Given the description of an element on the screen output the (x, y) to click on. 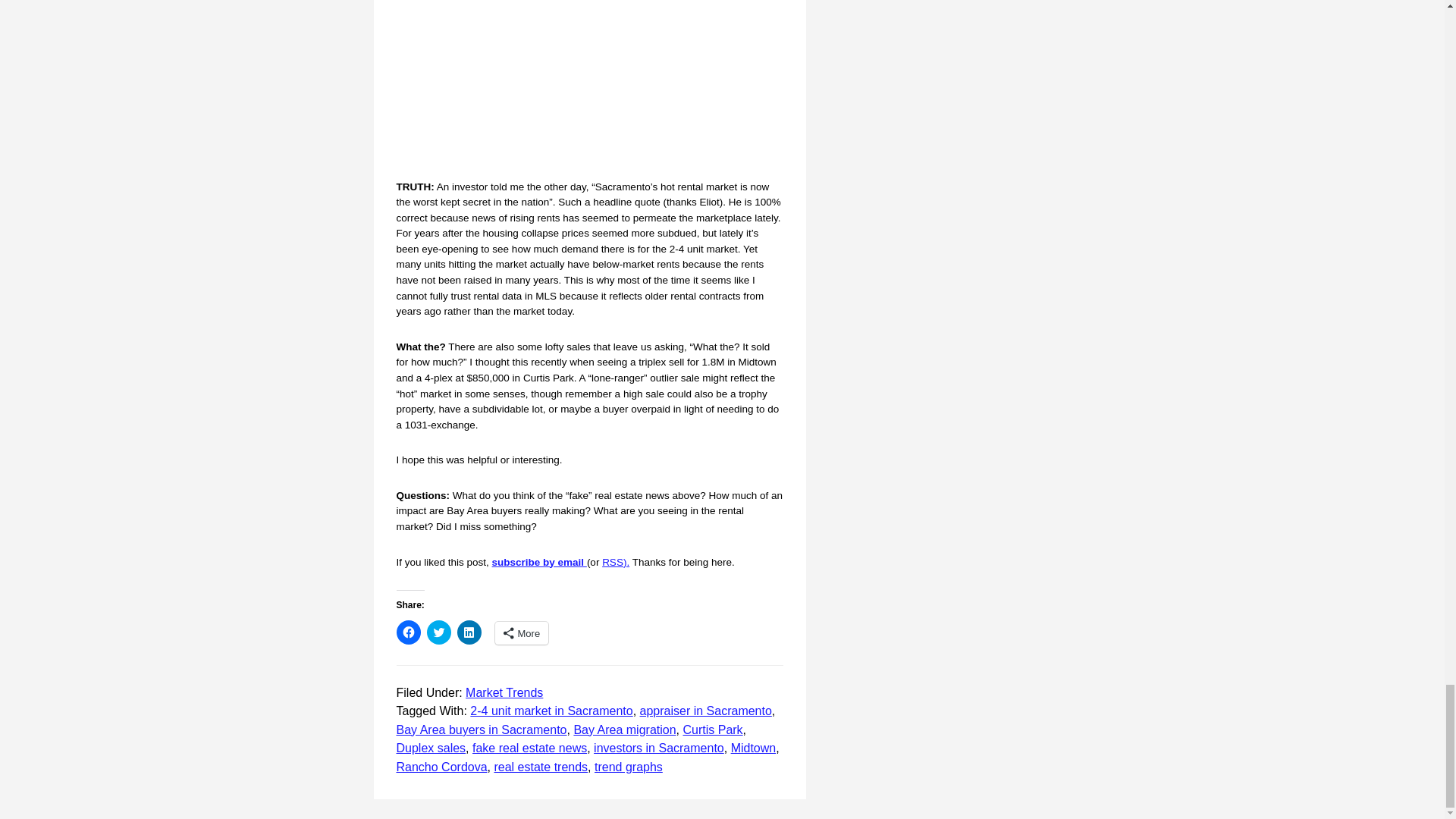
fake real estate news (528, 748)
More (521, 632)
Subscribe to the Sacramento Appraisal Blog by RSS (615, 562)
Curtis Park (712, 729)
appraiser in Sacramento (705, 710)
Click to share on Twitter (437, 631)
Click to share on LinkedIn (468, 631)
subscribe by email (539, 562)
Click to share on Facebook (408, 631)
Midtown (753, 748)
